Given the description of an element on the screen output the (x, y) to click on. 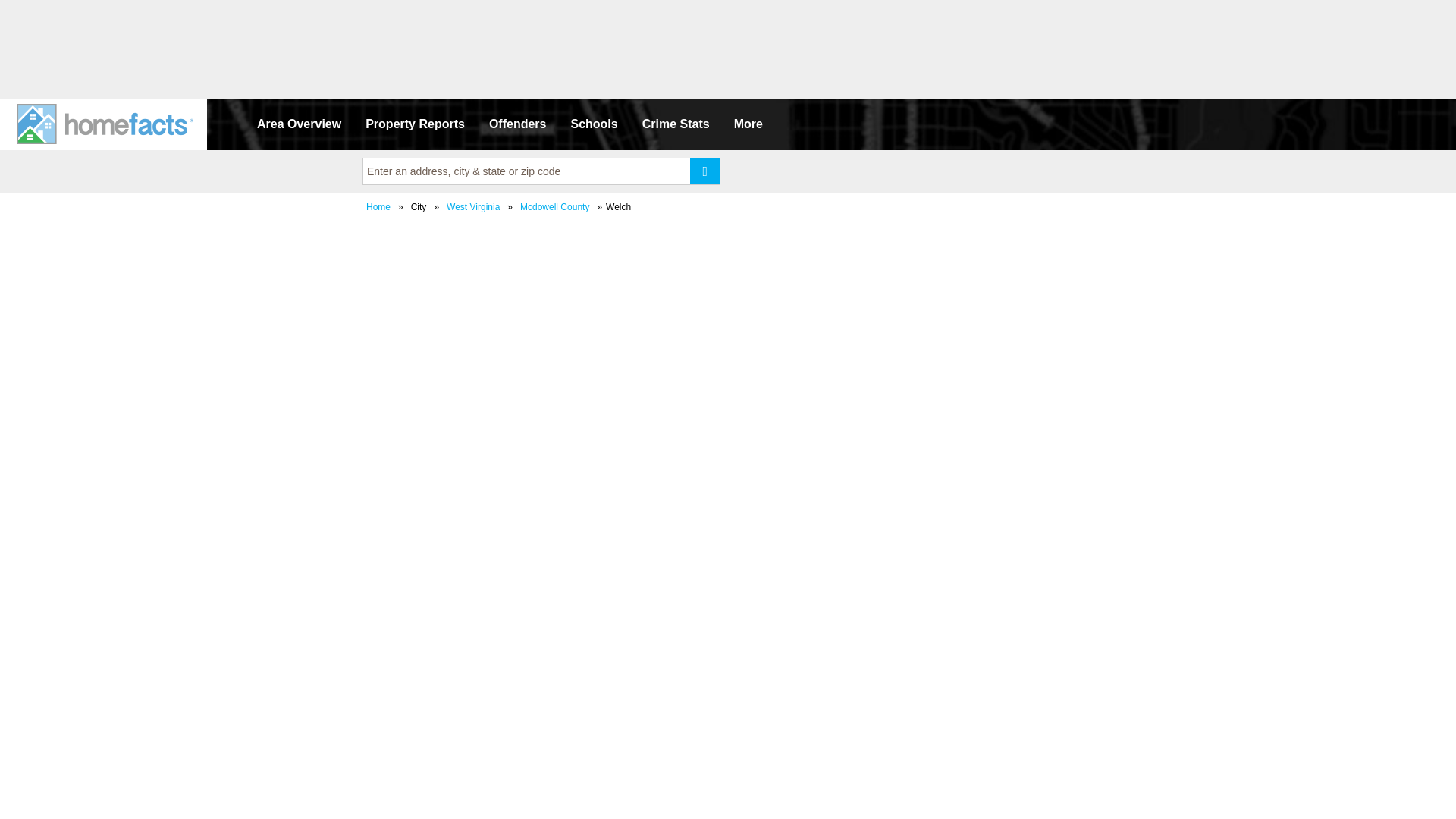
West Virginia (472, 206)
Property Reports (415, 123)
Offenders (518, 123)
Crime Stats (676, 123)
Area Overview (298, 123)
More (748, 123)
Offenders (518, 123)
Property Reports (415, 123)
Area Overview (298, 123)
Home (378, 206)
